Given the description of an element on the screen output the (x, y) to click on. 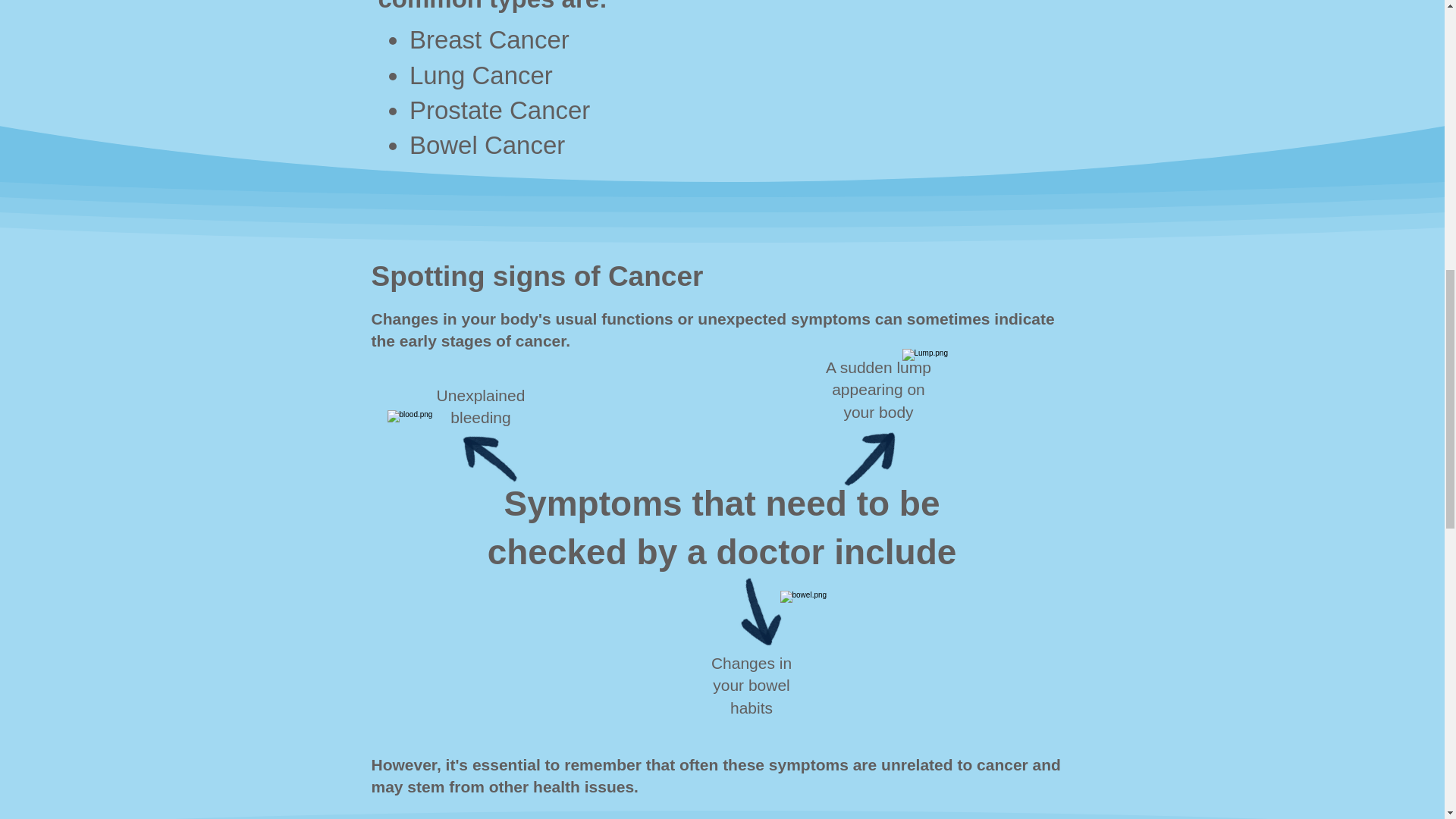
Arrow  (850, 438)
Arrow  (478, 442)
Arrow  (750, 585)
